Given the description of an element on the screen output the (x, y) to click on. 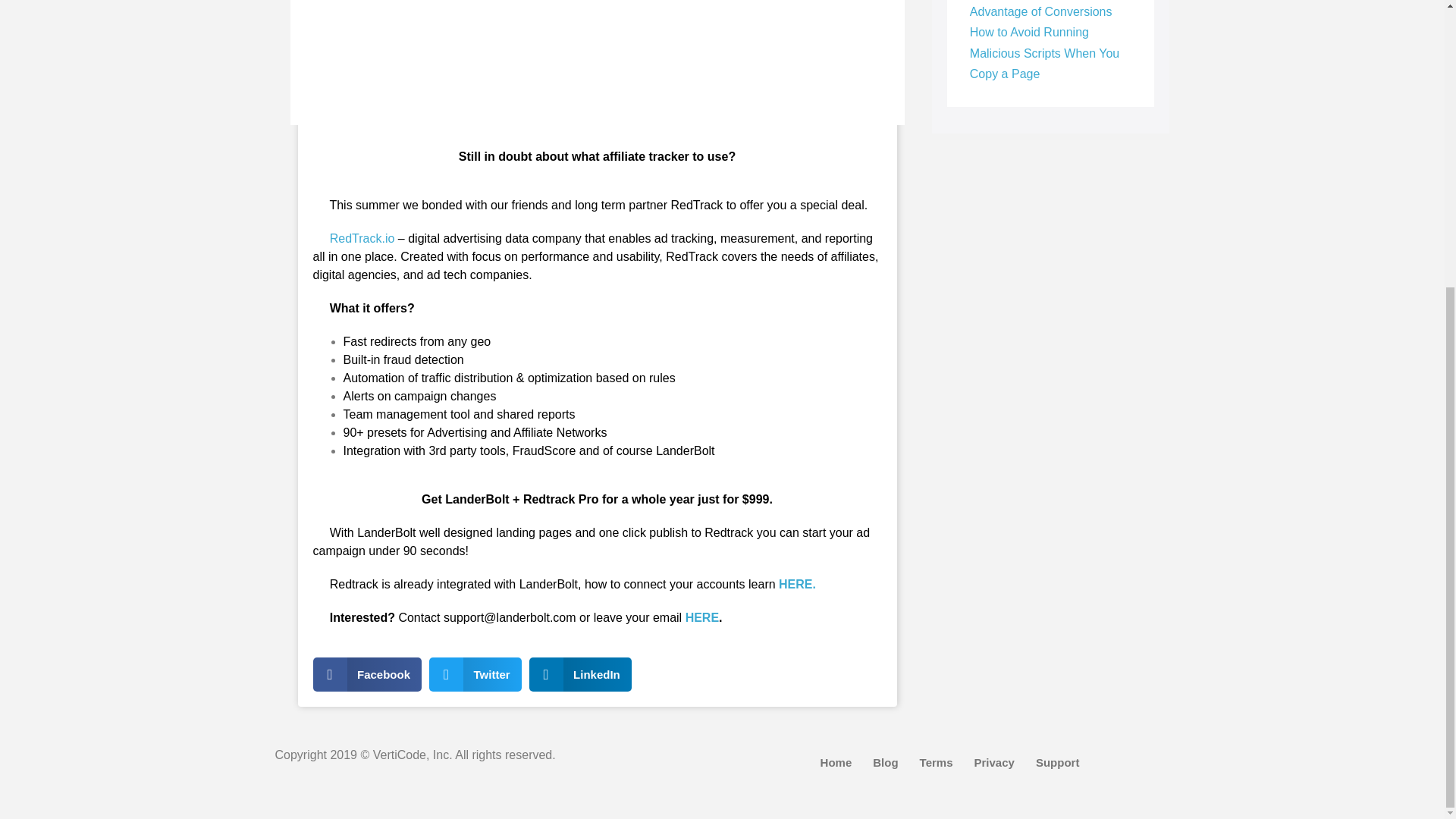
Terms (935, 762)
HERE (702, 617)
8 Factors Taking Full Advantage of Conversions (1040, 9)
How to Avoid Running Malicious Scripts When You Copy a Page (1044, 52)
Blog (884, 762)
Privacy (994, 762)
HERE. (796, 584)
 RedTrack.io (360, 237)
Home (836, 762)
Support (1057, 762)
